Given the description of an element on the screen output the (x, y) to click on. 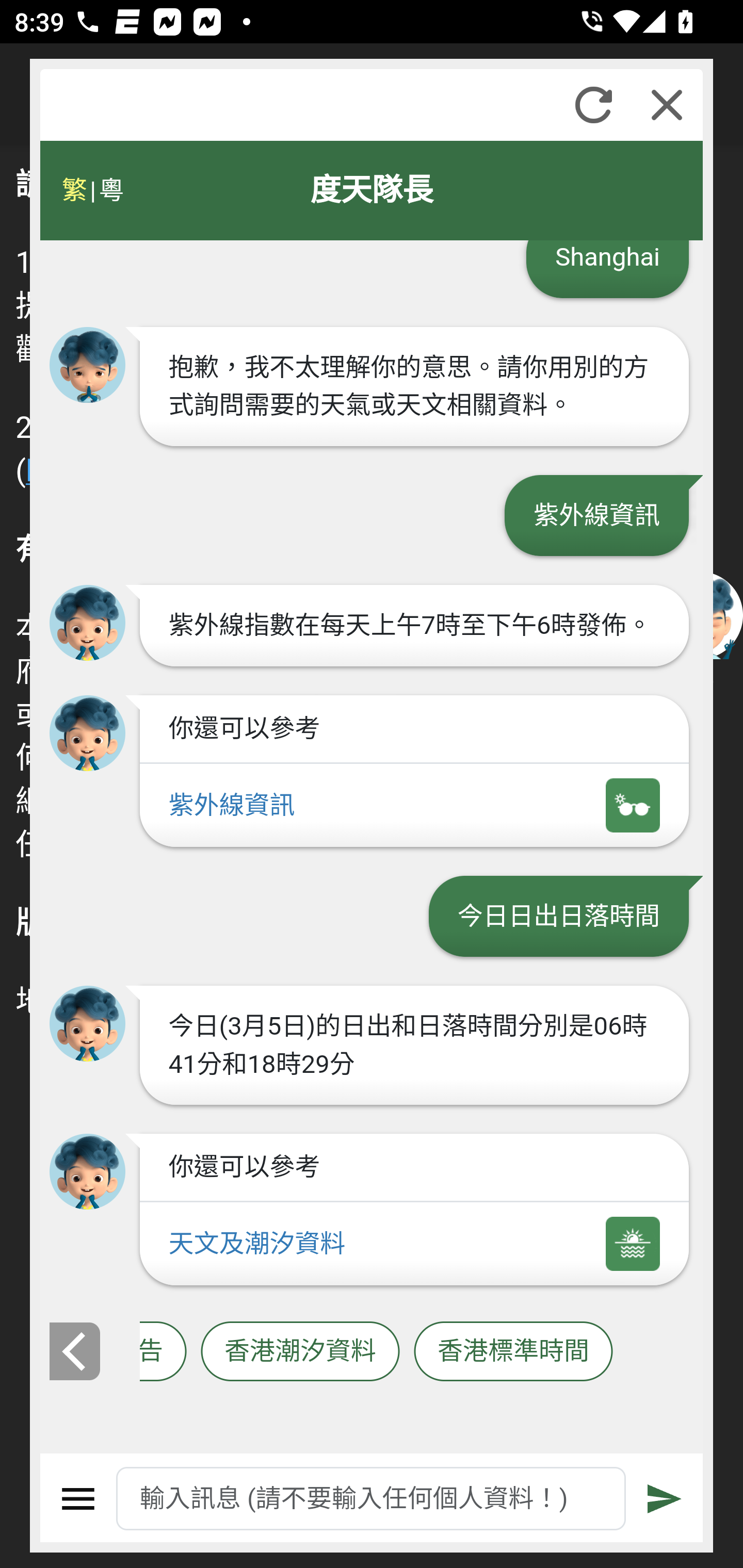
重新整理 (593, 104)
關閉 (666, 104)
繁 (73, 190)
粵 (110, 190)
紫外線資訊 (413, 805)
天文及潮汐資料 (413, 1244)
上一張 (74, 1351)
香港潮汐資料 (300, 1351)
香港標準時間 (513, 1351)
下一張 (678, 1351)
選單 (78, 1498)
遞交 (665, 1498)
